Given the description of an element on the screen output the (x, y) to click on. 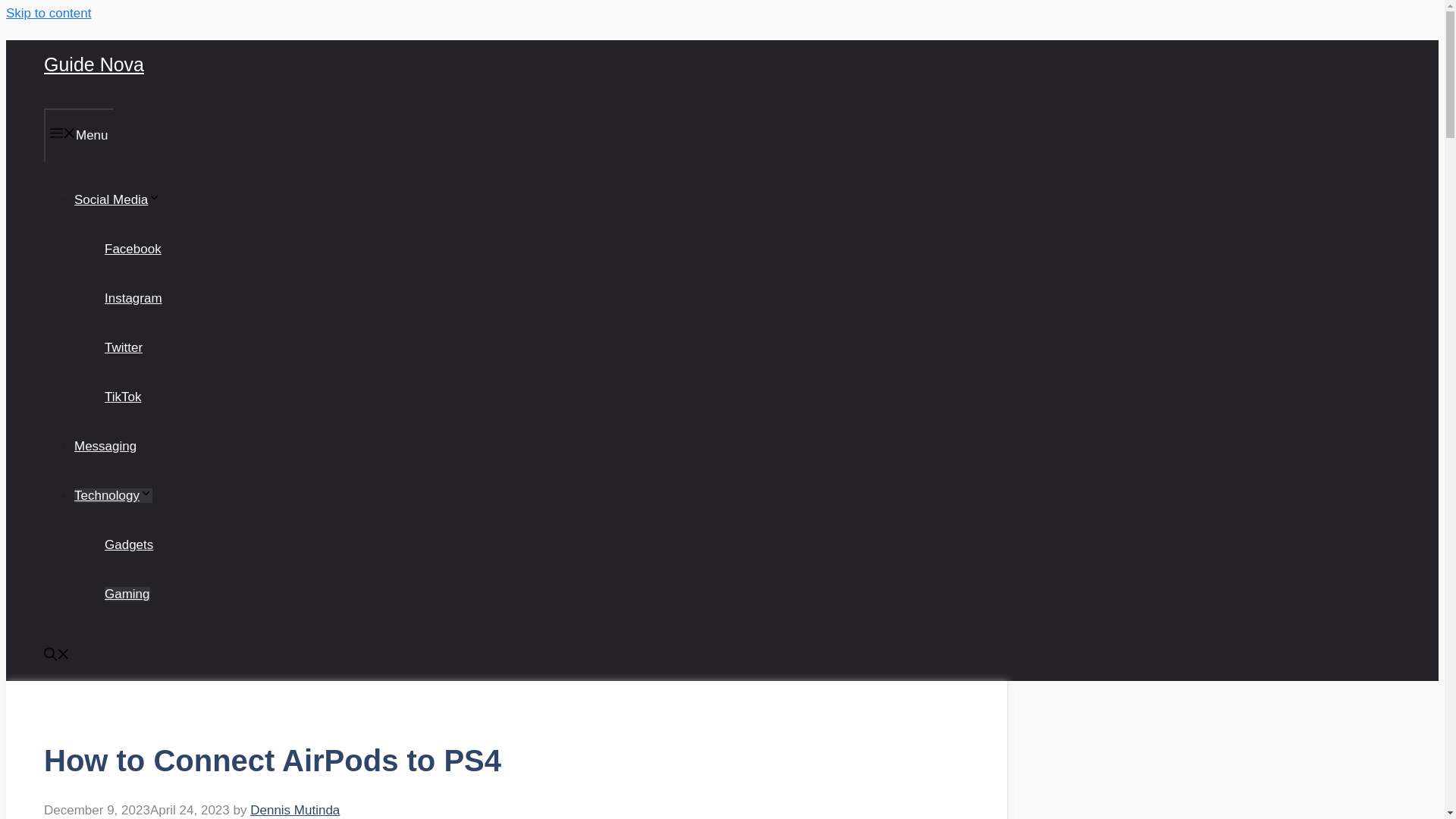
View all posts by Dennis Mutinda (294, 810)
Messaging (105, 445)
Dennis Mutinda (294, 810)
TikTok (122, 396)
Technology (113, 495)
Gaming (126, 594)
Menu (79, 135)
Guide Nova (93, 64)
Facebook (132, 248)
Twitter (123, 347)
Skip to content (47, 12)
Gadgets (128, 544)
Instagram (132, 298)
Skip to content (47, 12)
Social Media (117, 199)
